Given the description of an element on the screen output the (x, y) to click on. 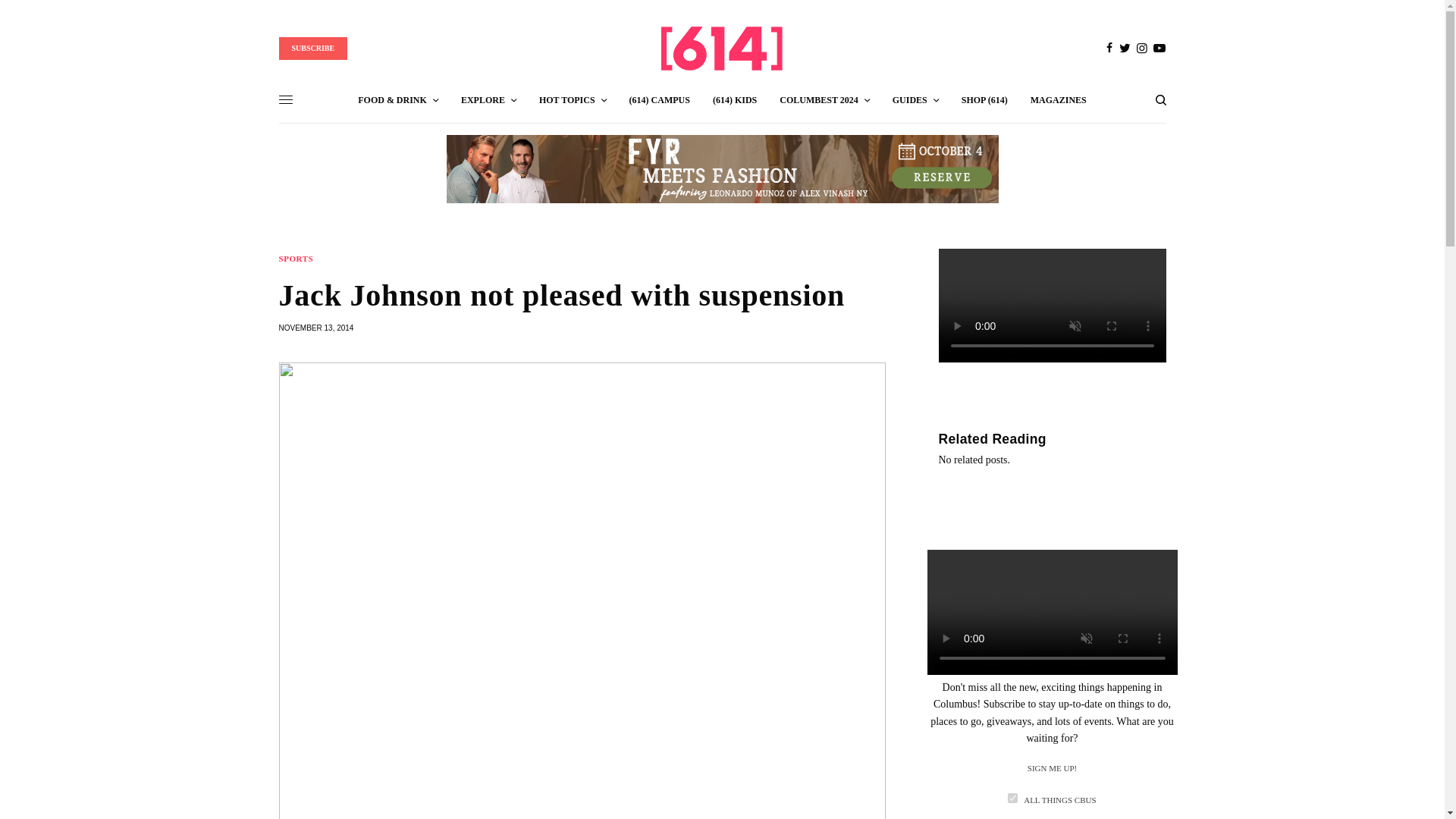
EXPLORE (488, 99)
e945c903ec (1012, 798)
HOT TOPICS (572, 99)
MAGAZINES (1058, 99)
SUBSCRIBE (313, 47)
GUIDES (915, 99)
COLUMBEST 2024 (823, 99)
614NOW (722, 48)
